Given the description of an element on the screen output the (x, y) to click on. 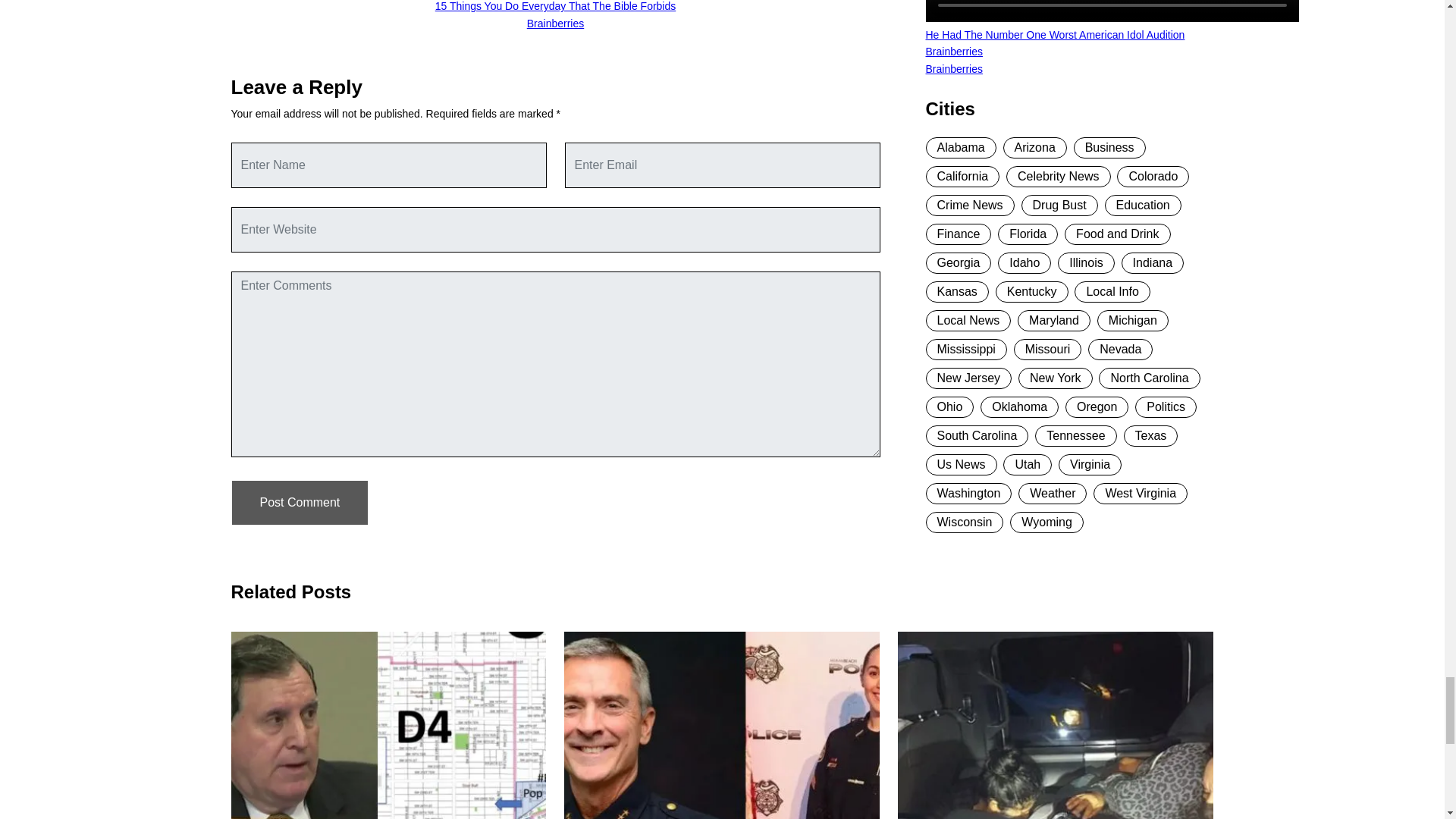
Post Comment (299, 502)
